Given the description of an element on the screen output the (x, y) to click on. 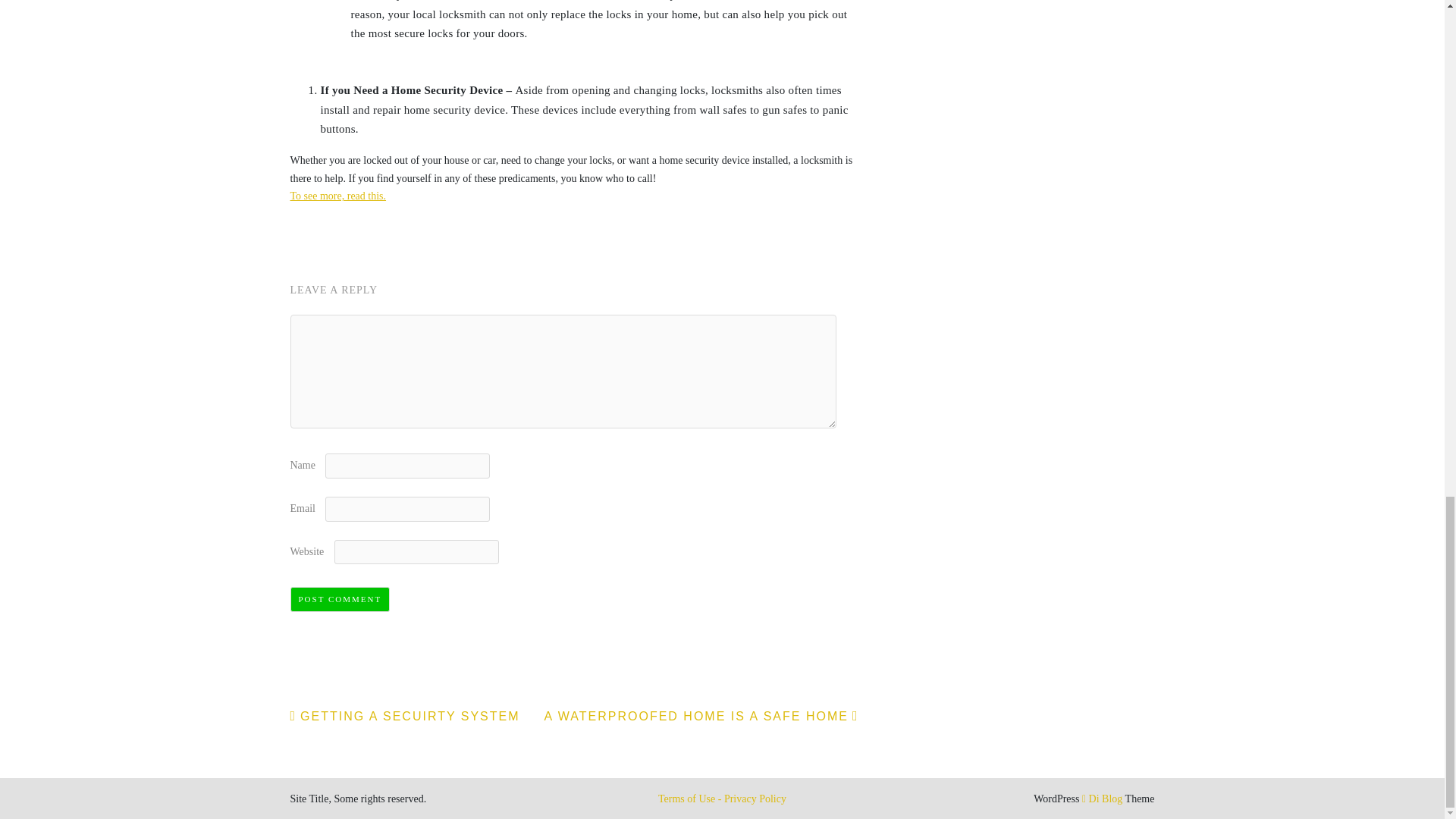
GETTING A SECUIRTY SYSTEM (404, 716)
A WATERPROOFED HOME IS A SAFE HOME (701, 716)
Post Comment (339, 599)
Post Comment (339, 599)
To see more, read this. (337, 195)
a link I like (337, 195)
